Given the description of an element on the screen output the (x, y) to click on. 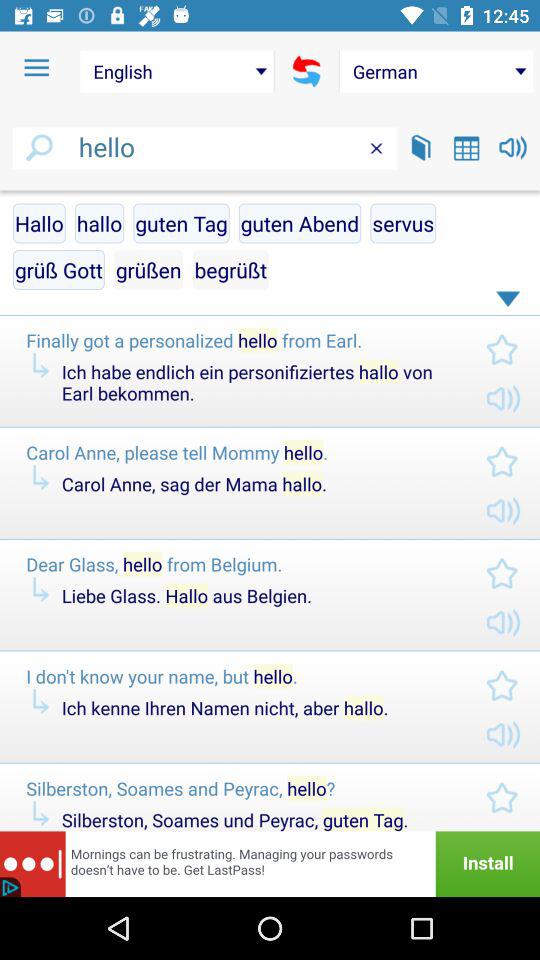
turn on the icon next to the guten tag (299, 223)
